Given the description of an element on the screen output the (x, y) to click on. 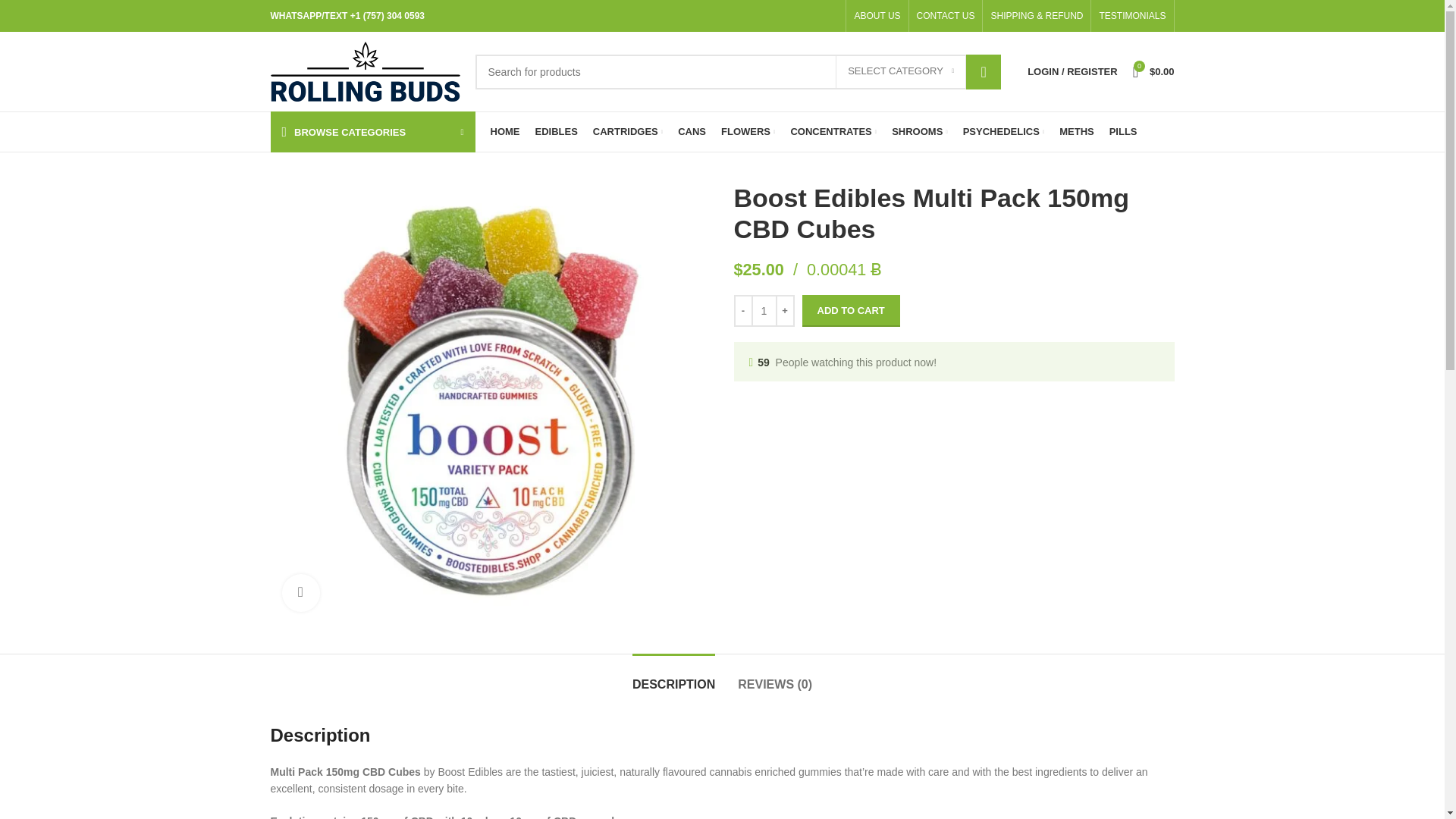
TESTIMONIALS (1132, 15)
Shopping cart (1153, 71)
SELECT CATEGORY (900, 71)
Search for products (737, 71)
CONTACT US (946, 15)
SELECT CATEGORY (900, 71)
My account (1072, 71)
ABOUT US (876, 15)
